Given the description of an element on the screen output the (x, y) to click on. 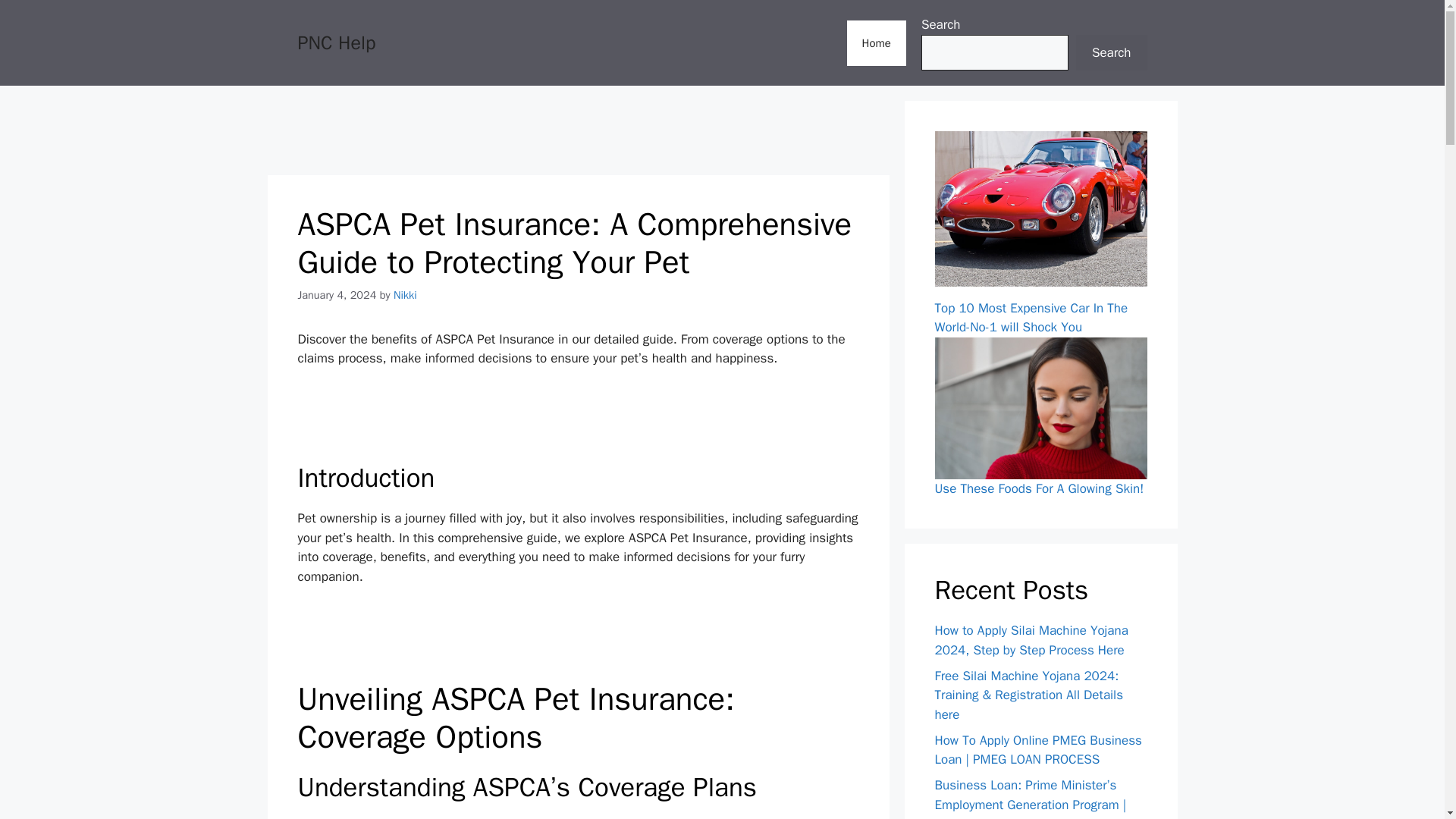
Top 10 Most Expensive Car In The World-No-1 will Shock You (1030, 317)
Use These Foods For A Glowing Skin! (1038, 488)
Nikki (404, 295)
Search (1111, 53)
Home (876, 42)
View all posts by Nikki (404, 295)
PNC Help (336, 42)
